Given the description of an element on the screen output the (x, y) to click on. 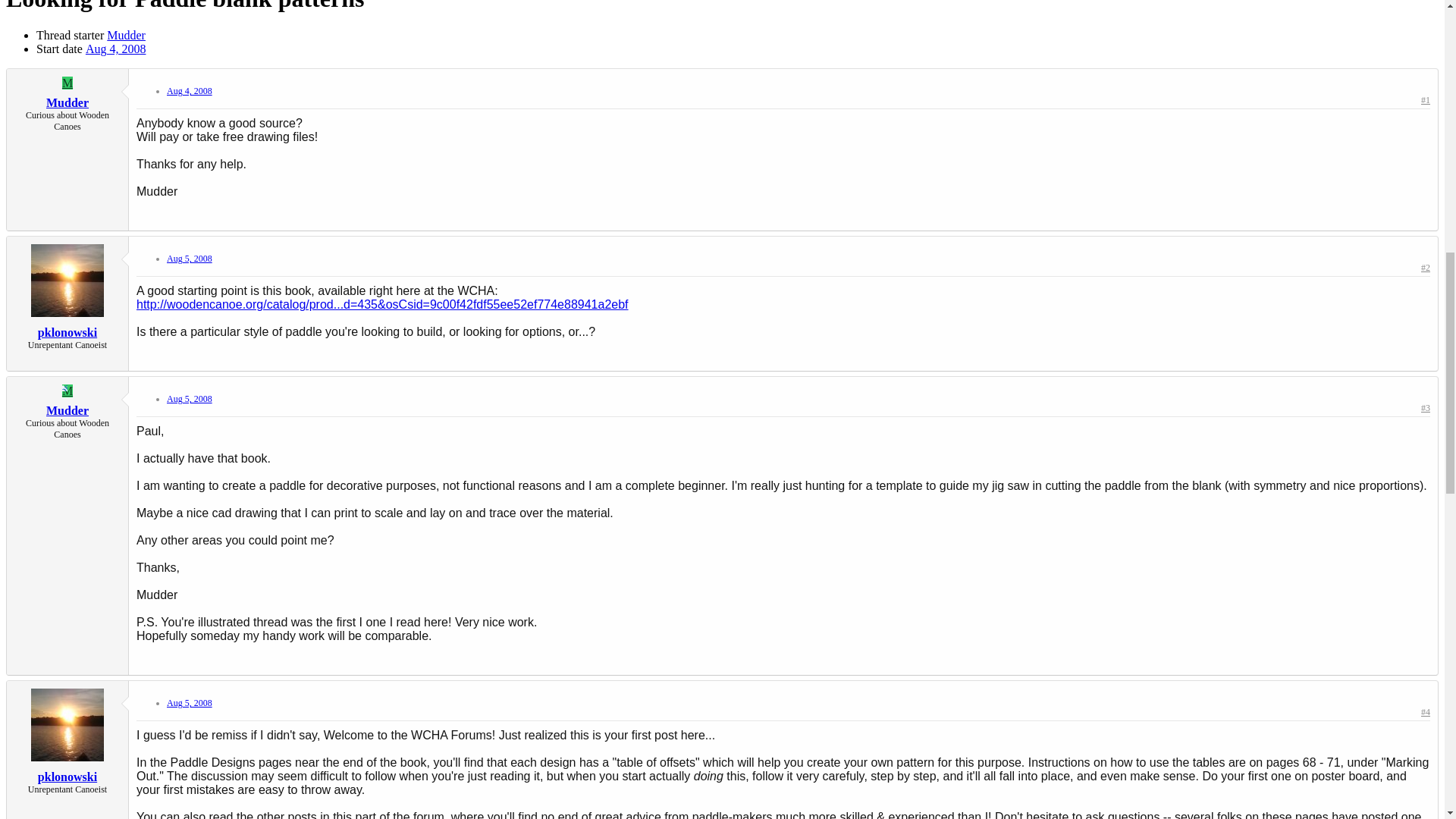
Aug 4, 2008 at 11:25 PM (189, 90)
Aug 5, 2008 at 10:13 AM (189, 398)
Aug 5, 2008 at 8:34 AM (189, 258)
M (67, 82)
Aug 4, 2008 (116, 48)
Aug 4, 2008 (189, 90)
Mudder (67, 102)
Mudder (125, 34)
Aug 5, 2008 at 7:31 PM (189, 702)
Aug 4, 2008 at 11:25 PM (116, 48)
